Given the description of an element on the screen output the (x, y) to click on. 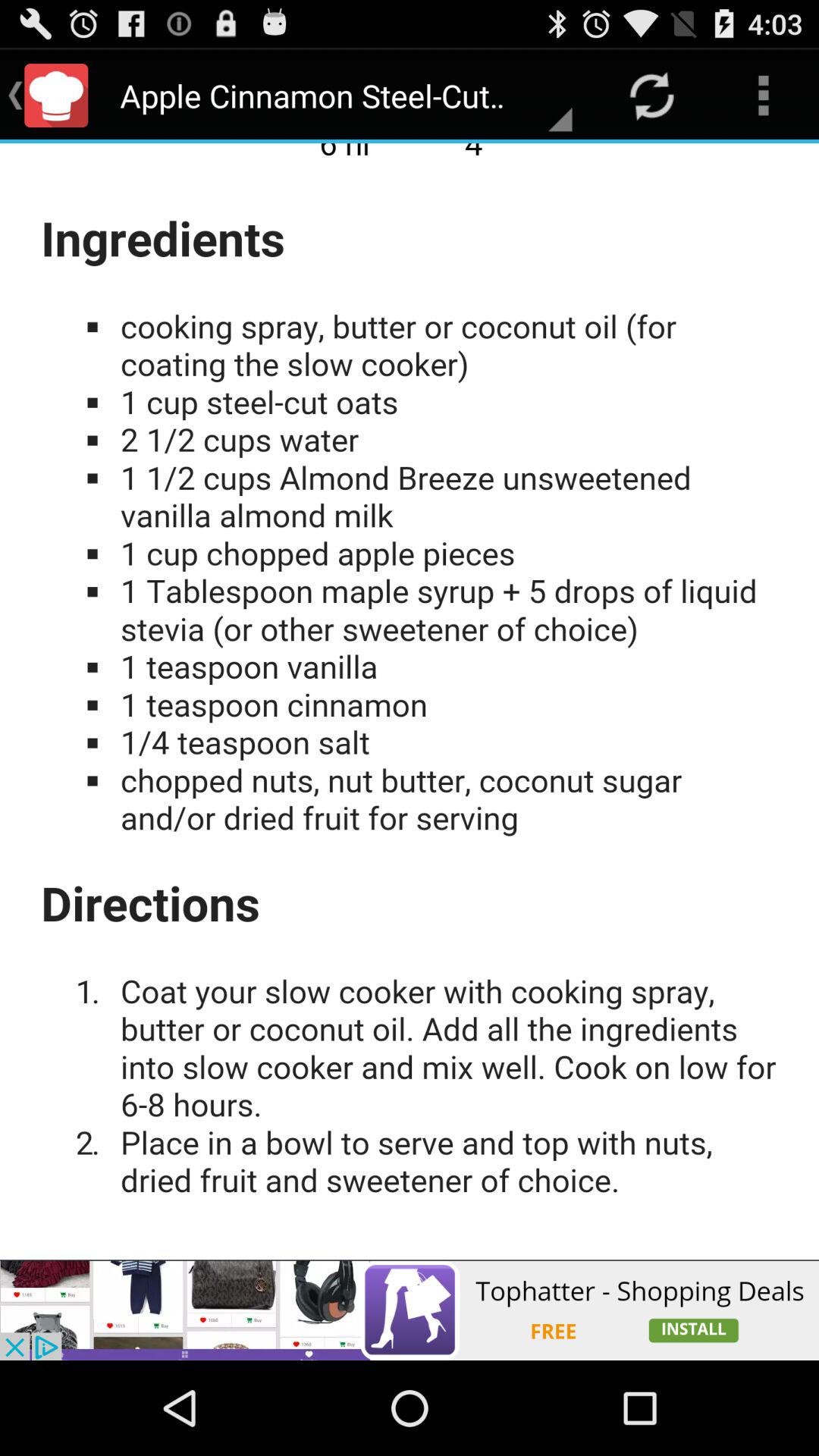
advertisement (409, 701)
